Given the description of an element on the screen output the (x, y) to click on. 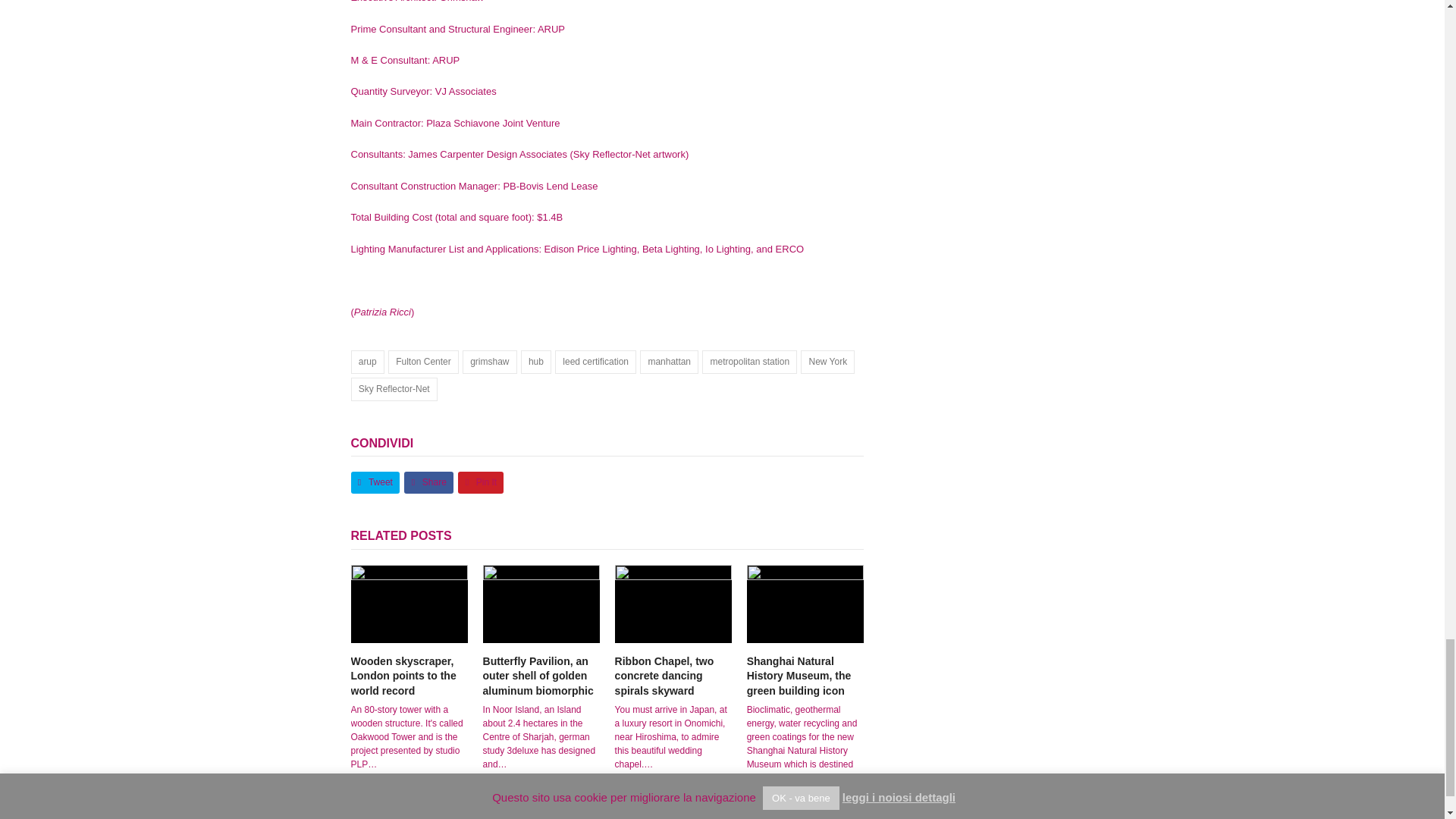
arup (367, 361)
Share (428, 482)
grimshaw (489, 361)
Wooden skyscraper, London points to the world record (402, 675)
hub (536, 361)
Shanghai Natural History Museum, the green building icon (804, 603)
leed certification (595, 361)
manhattan (669, 361)
New York (827, 361)
Pin It (480, 482)
Tweet (374, 482)
Ribbon Chapel, two concrete dancing spirals skyward (673, 603)
metropolitan station (748, 361)
Fulton Center (423, 361)
